Given the description of an element on the screen output the (x, y) to click on. 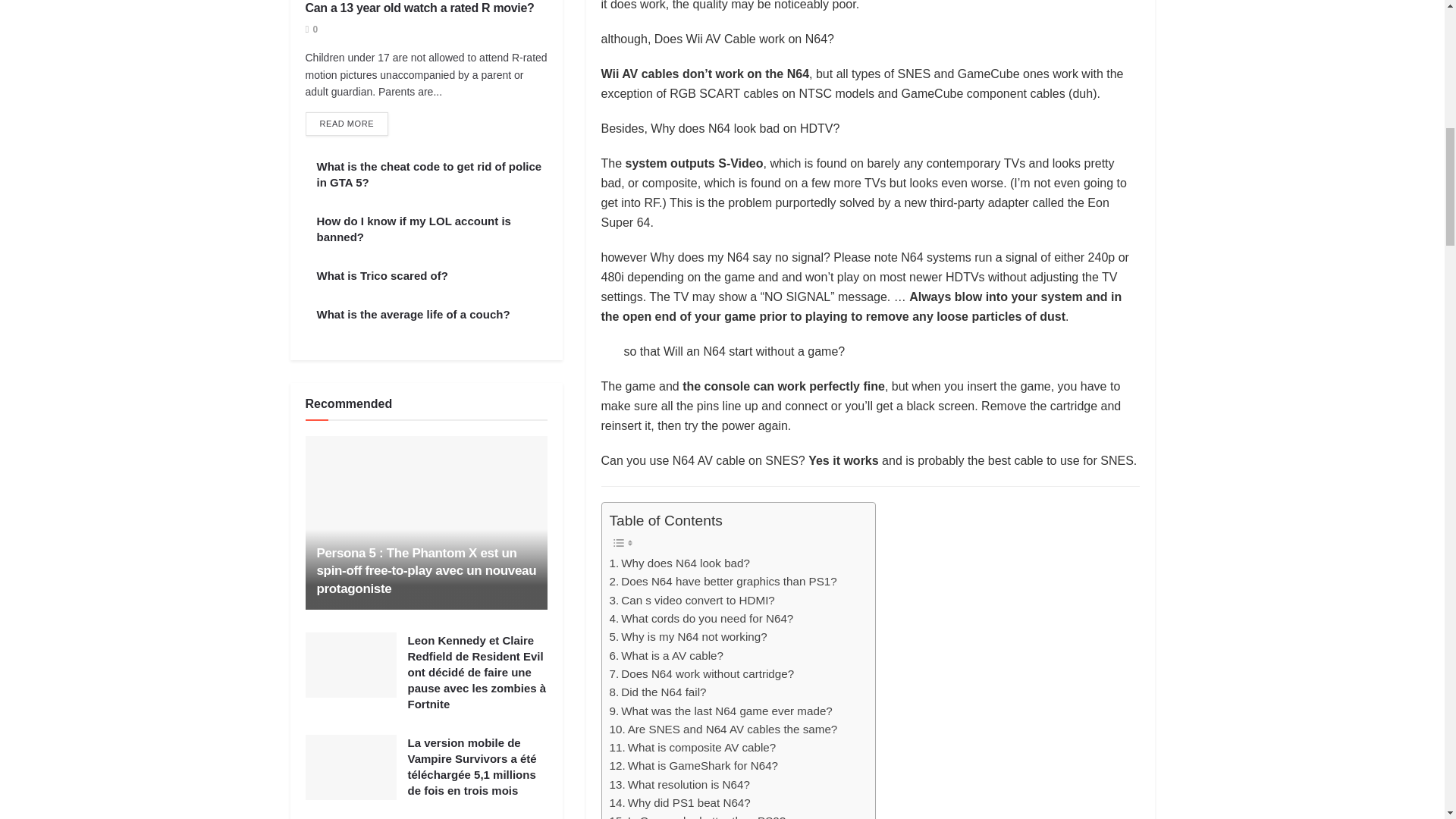
Why does N64 look bad? (679, 563)
What is GameShark for N64? (694, 765)
Did the N64 fail? (658, 692)
Are SNES and N64 AV cables the same? (724, 729)
Does N64 work without cartridge? (702, 674)
Why is my N64 not working? (688, 637)
What cords do you need for N64? (701, 618)
Can s video convert to HDMI? (692, 600)
What resolution is N64? (679, 784)
What was the last N64 game ever made? (721, 710)
What is composite AV cable? (693, 747)
What is a AV cable? (666, 656)
Does N64 have better graphics than PS1? (723, 581)
Why did PS1 beat N64? (680, 802)
